Given the description of an element on the screen output the (x, y) to click on. 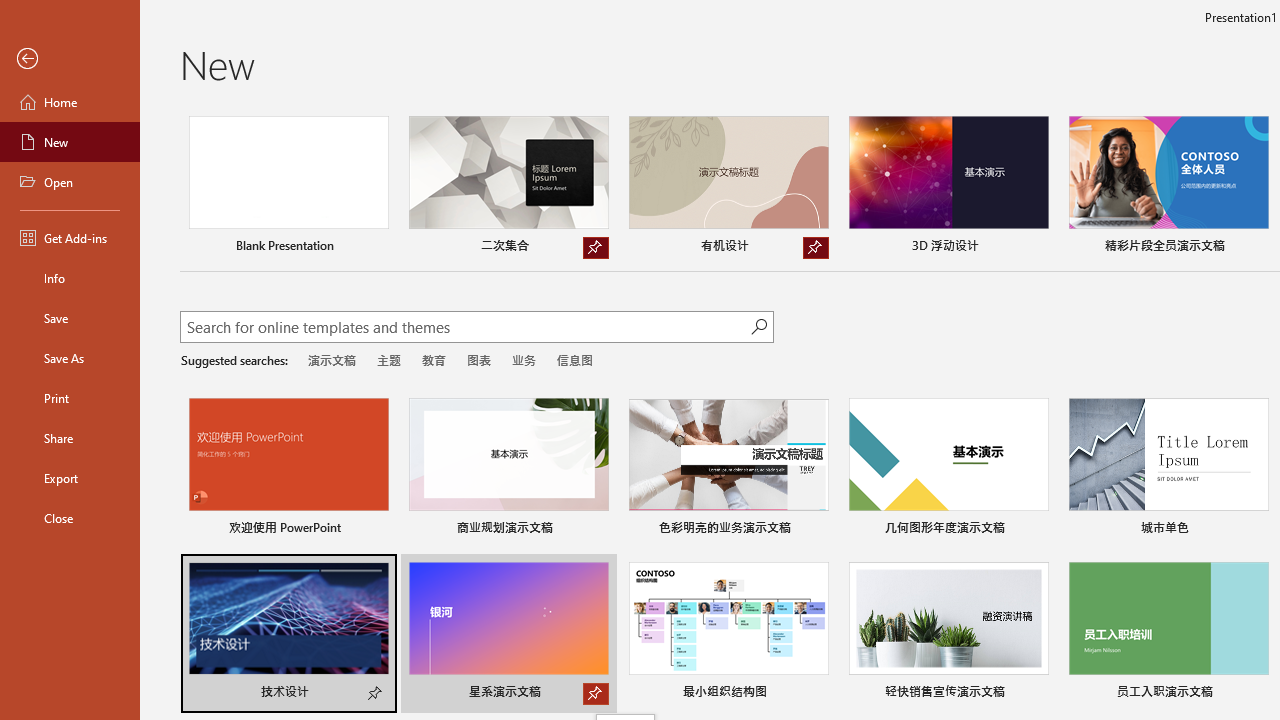
Unpin from list (815, 247)
Print (69, 398)
New (69, 141)
Search for online templates and themes (465, 329)
